Given the description of an element on the screen output the (x, y) to click on. 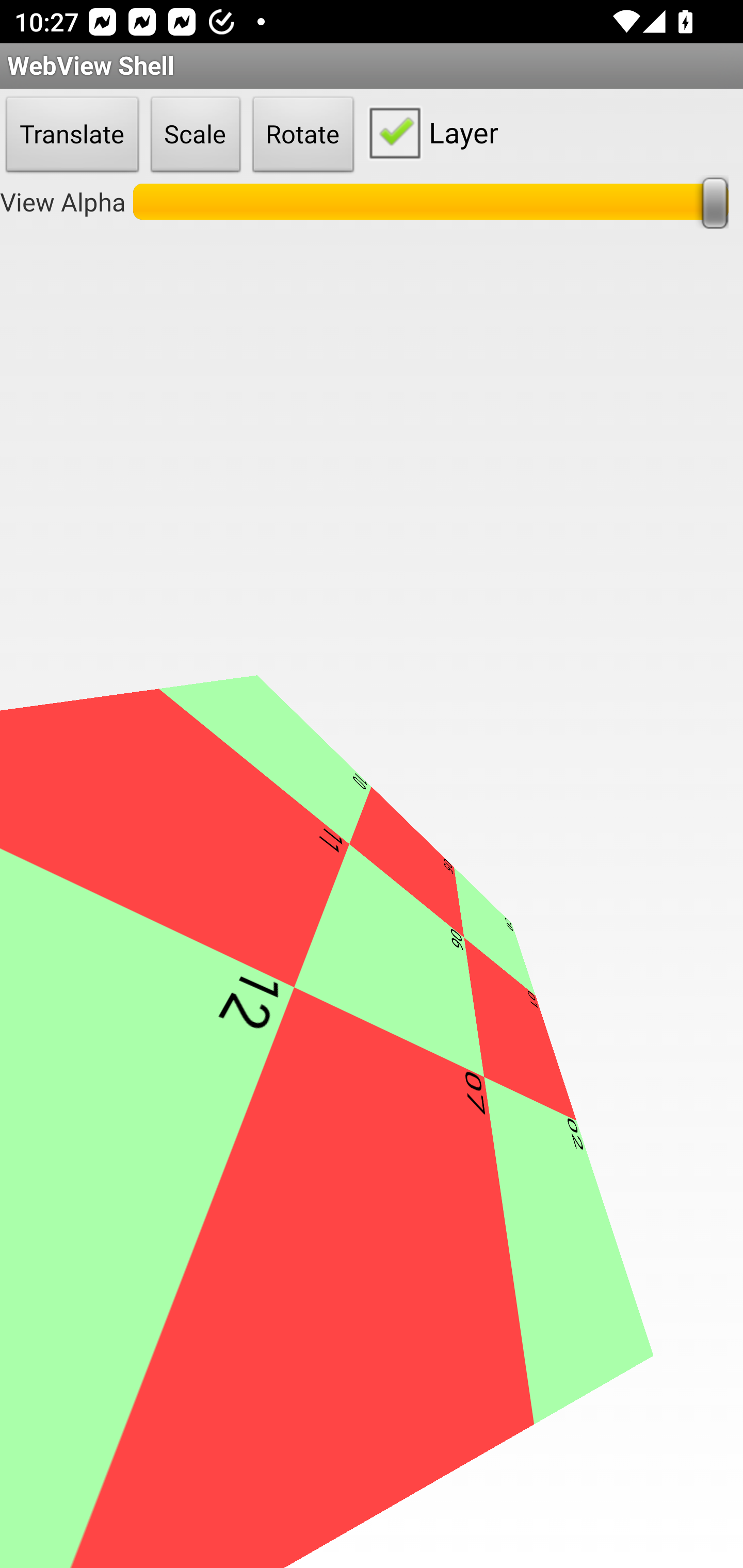
Layer (429, 132)
Translate (72, 135)
Scale (195, 135)
Rotate (303, 135)
